Given the description of an element on the screen output the (x, y) to click on. 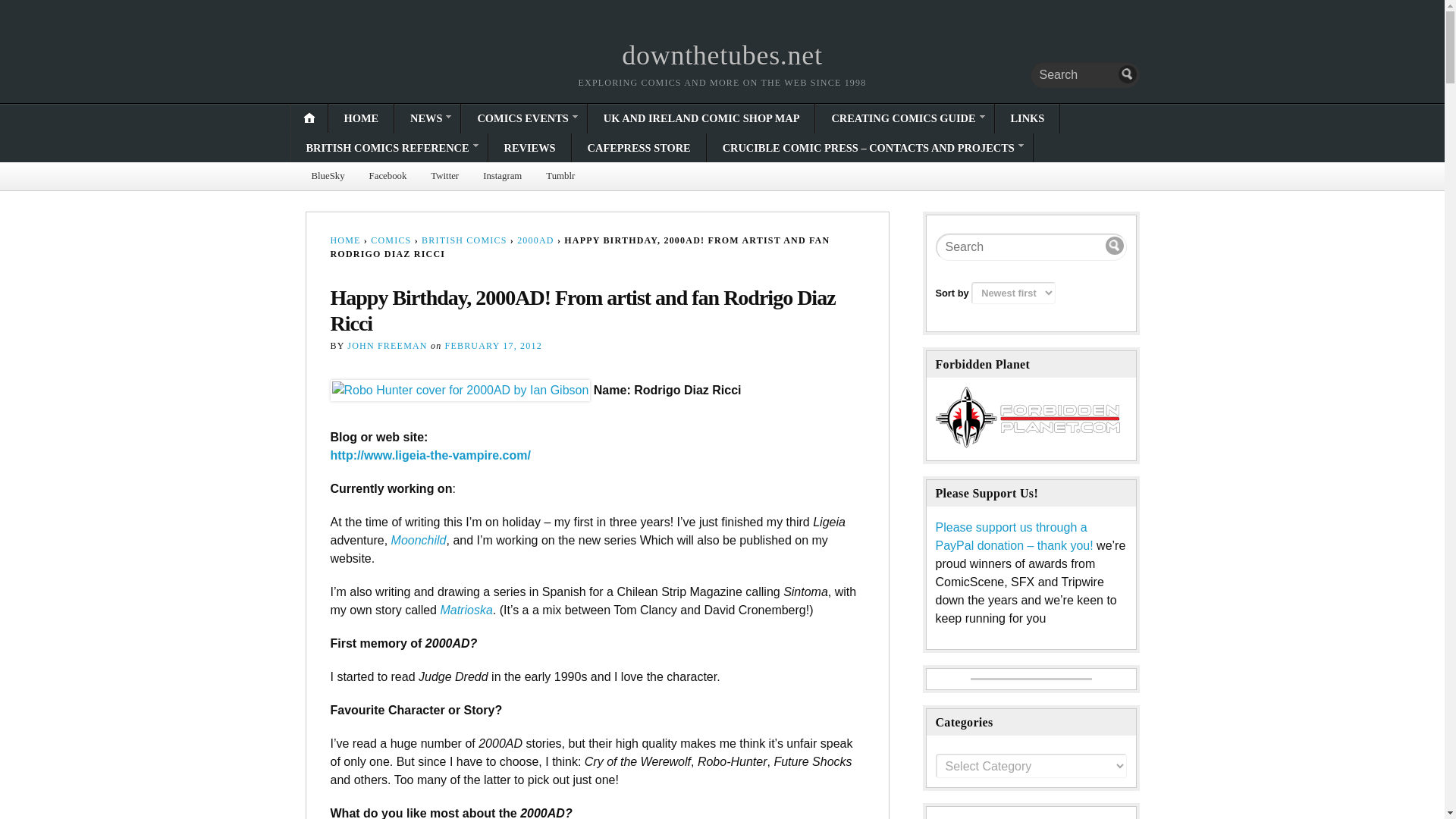
Liegia the Vampire (430, 454)
UK AND IRELAND COMIC SHOP MAP (701, 118)
CREATING COMICS GUIDE (903, 118)
Home (721, 55)
Matrioska blog (465, 609)
downthetubes.net (721, 55)
1:00 pm (493, 345)
HOME (361, 118)
COMICS EVENTS (523, 118)
NEWS (427, 118)
View all posts by John Freeman (386, 345)
LINKS (1026, 118)
BRITISH COMICS REFERENCE (389, 147)
Ligeia - Moonchild (418, 540)
